Given the description of an element on the screen output the (x, y) to click on. 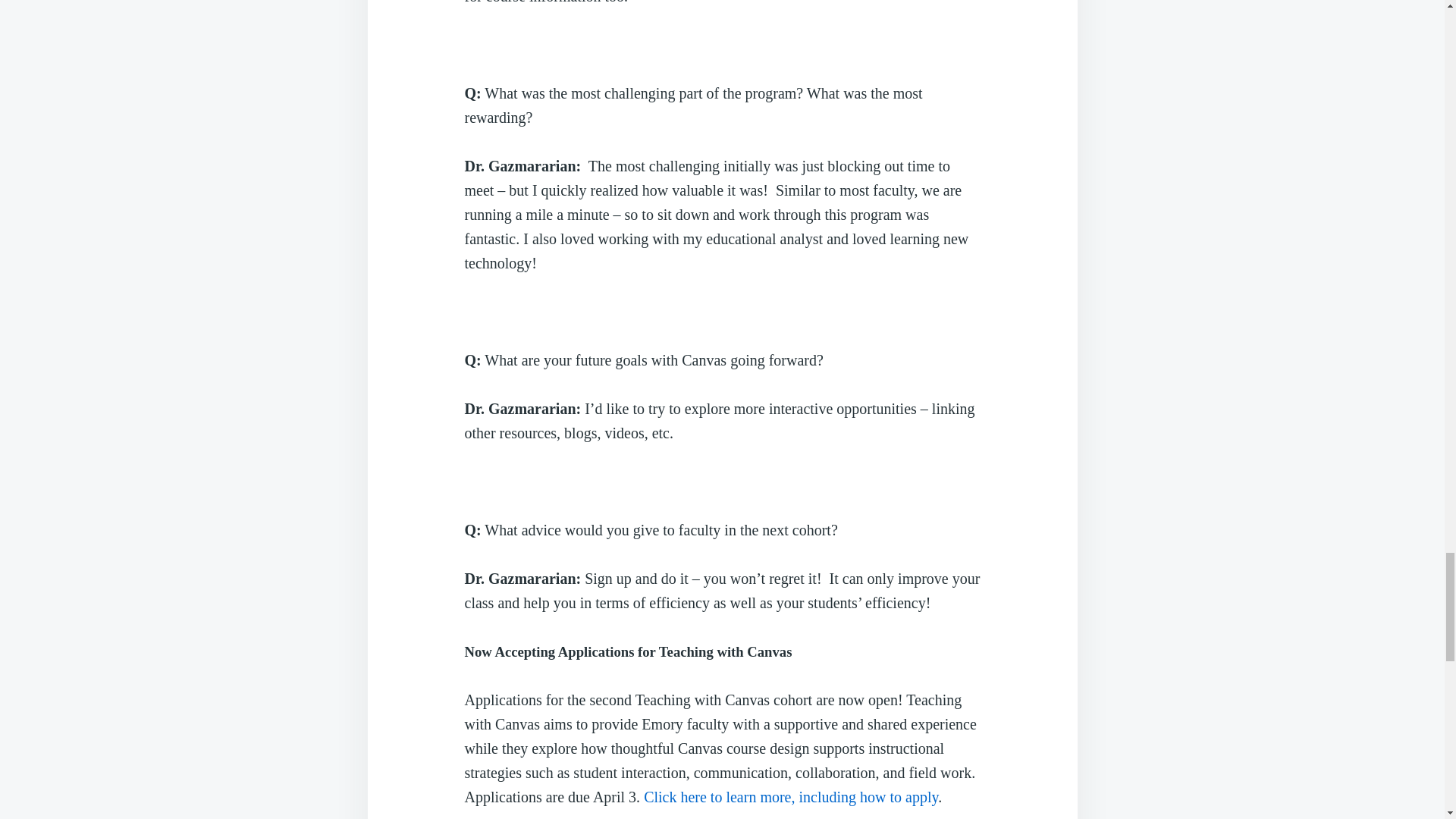
Click here to learn more, including how to apply (790, 796)
